Given the description of an element on the screen output the (x, y) to click on. 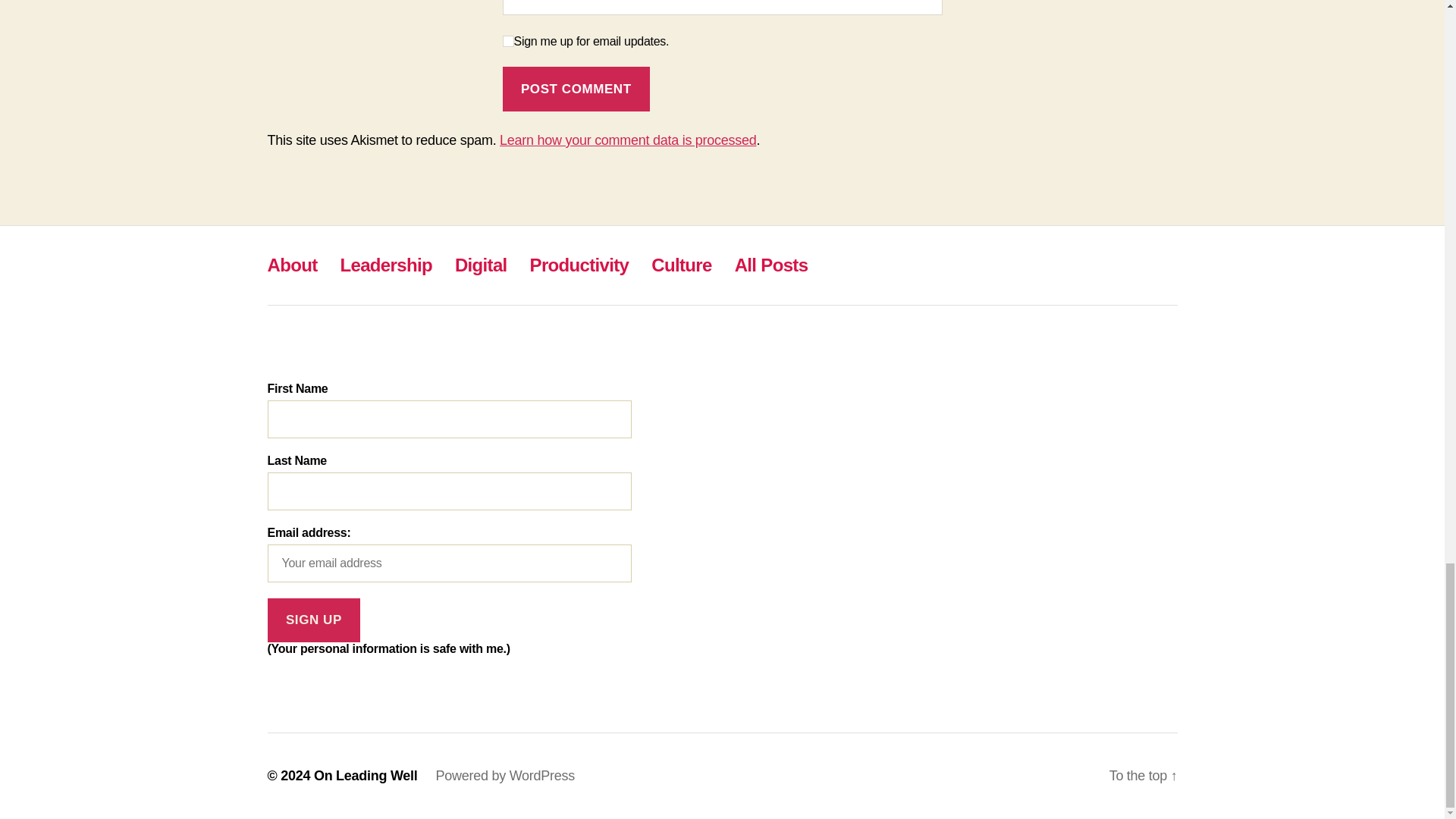
Sign up (312, 620)
1 (507, 41)
Leadership (384, 264)
Learn how your comment data is processed (627, 140)
Digital (480, 264)
Post Comment (575, 88)
About (291, 264)
Culture (680, 264)
Powered by WordPress (505, 775)
On Leading Well (365, 775)
Sign up (312, 620)
Productivity (578, 264)
All Posts (771, 264)
Post Comment (575, 88)
